Given the description of an element on the screen output the (x, y) to click on. 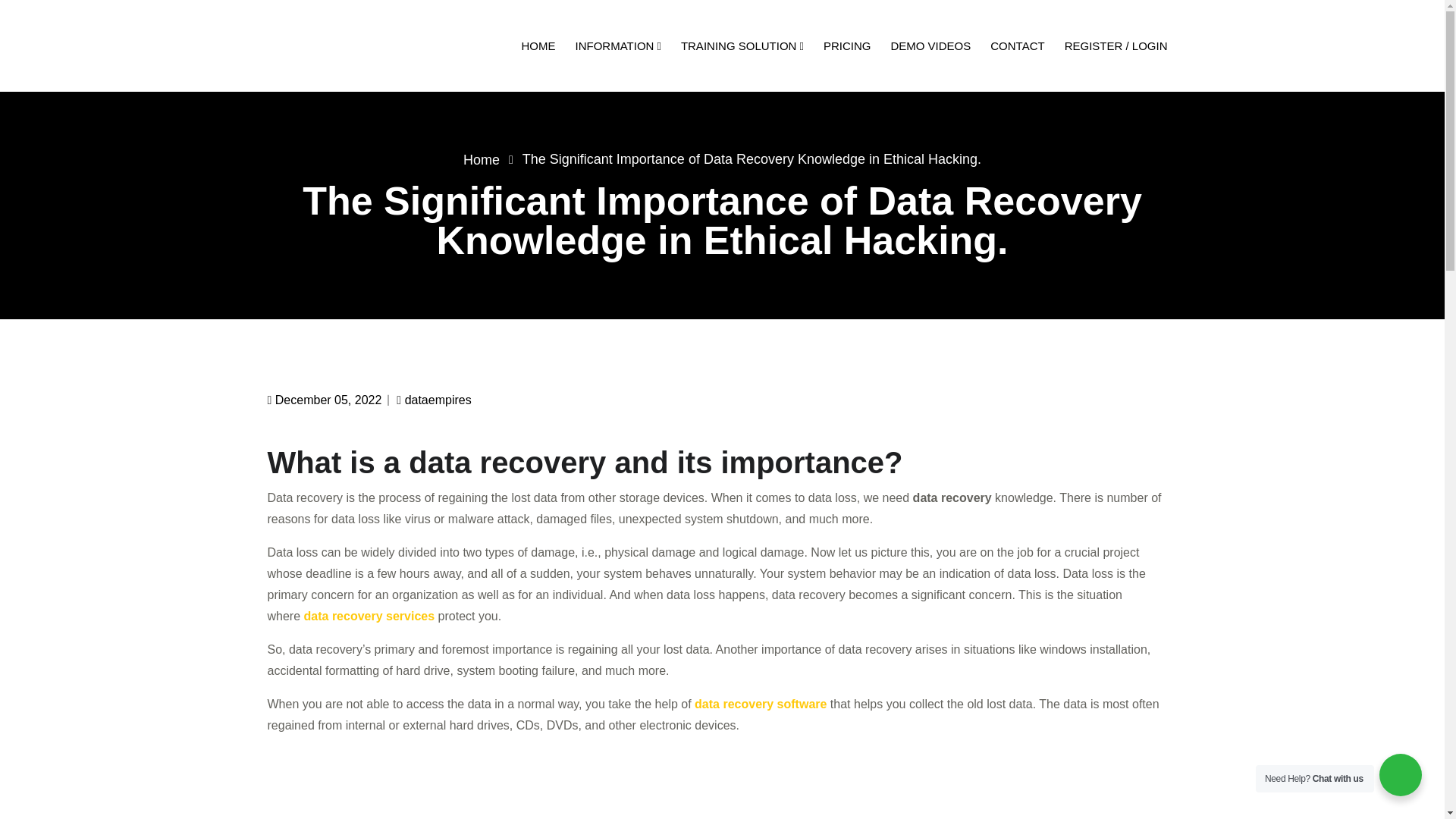
TRAINING SOLUTION (742, 45)
CONTACT (1016, 45)
PRICING (847, 45)
CONTACT (1016, 45)
data recovery services (369, 615)
data recovery software (760, 703)
DEMO VIDEOS (930, 45)
DEMO VIDEOS (930, 45)
Home (481, 159)
PRICING (847, 45)
